Given the description of an element on the screen output the (x, y) to click on. 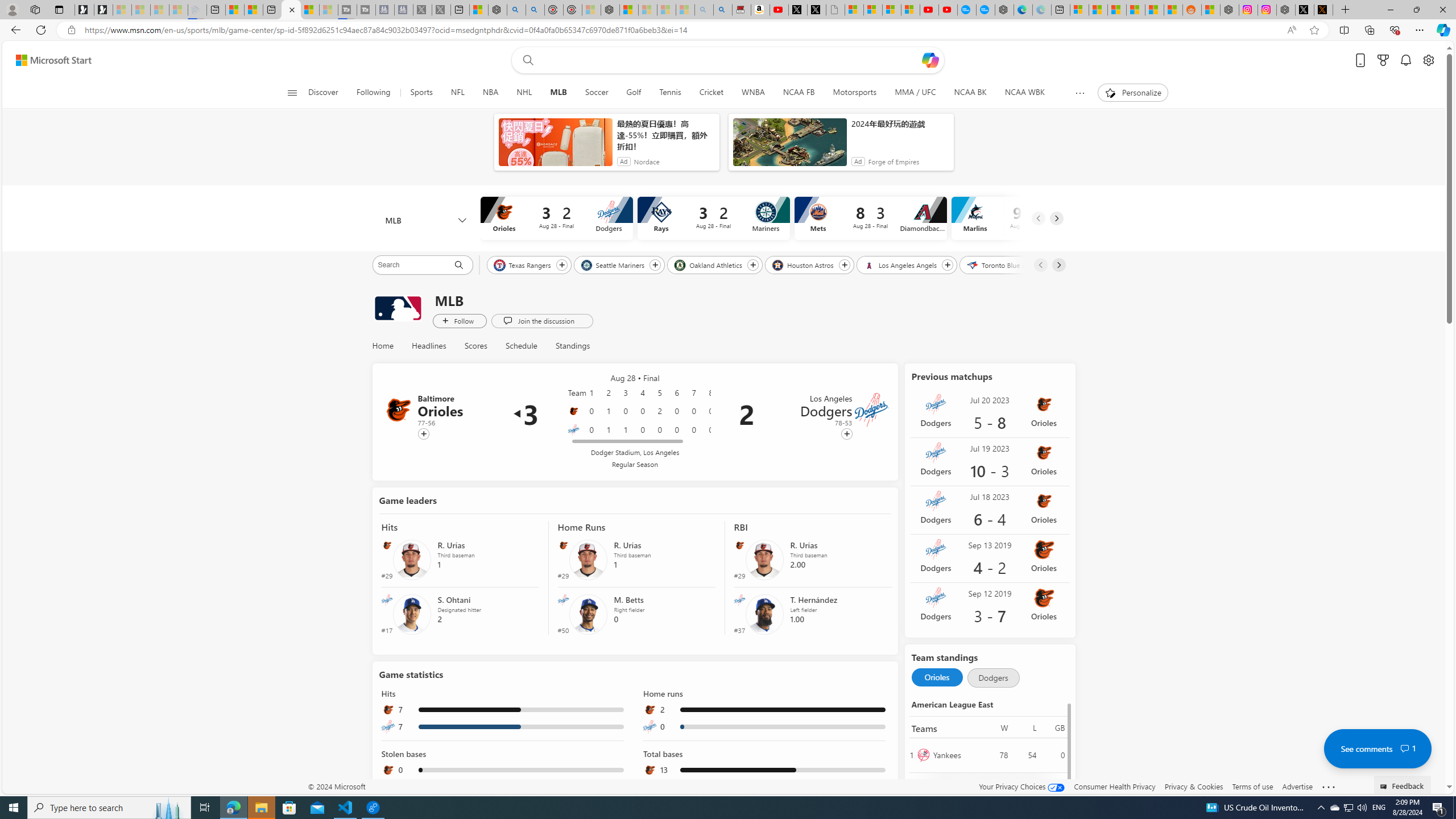
Open settings (1427, 60)
Selected Orioles (936, 677)
Follow Oakland Athletics (752, 265)
NFL (456, 92)
Follow Houston Astros (844, 265)
MLB (558, 92)
Los Angeles Angels (901, 264)
Scores (475, 345)
anim-content (789, 146)
poe - Search (515, 9)
amazon - Search - Sleeping (703, 9)
Shanghai, China Weather trends | Microsoft Weather (1173, 9)
